Given the description of an element on the screen output the (x, y) to click on. 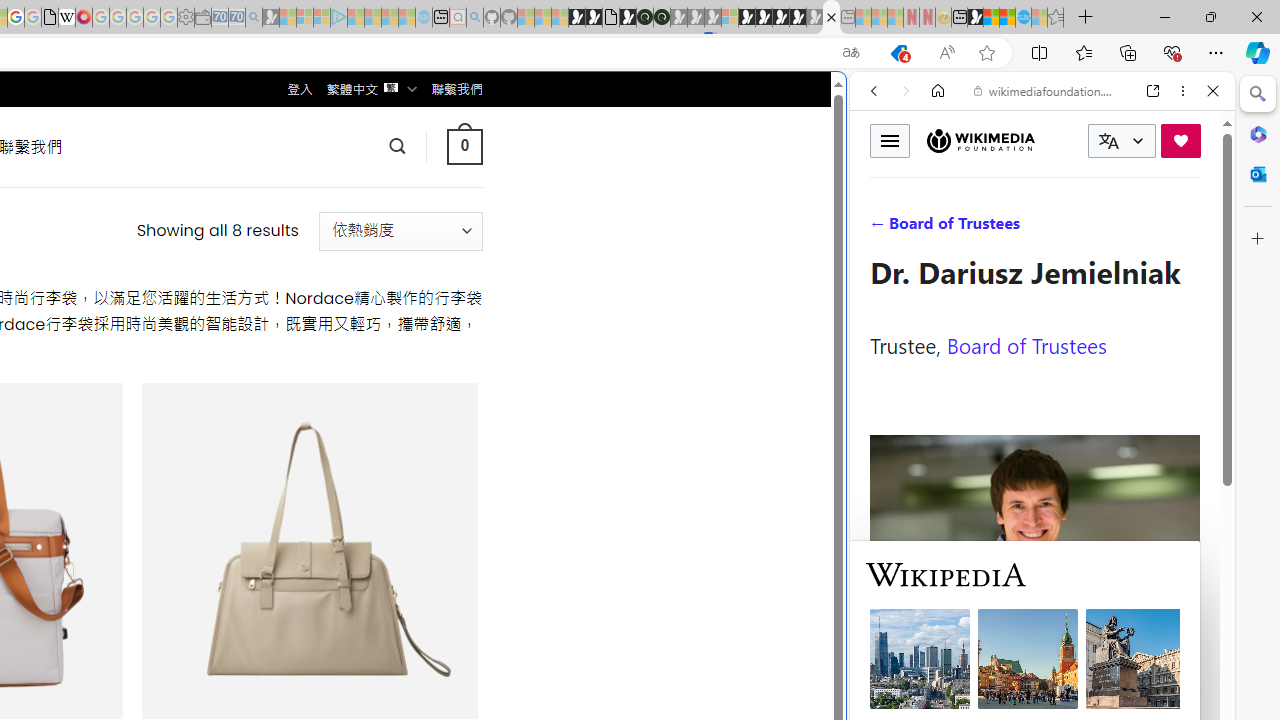
Search Filter, Search Tools (1093, 228)
Class: i icon icon-translate language-switcher__icon (1108, 141)
 0  (464, 146)
SEARCH TOOLS (1093, 228)
Tabs you've opened (276, 265)
World - MSN (991, 17)
